Given the description of an element on the screen output the (x, y) to click on. 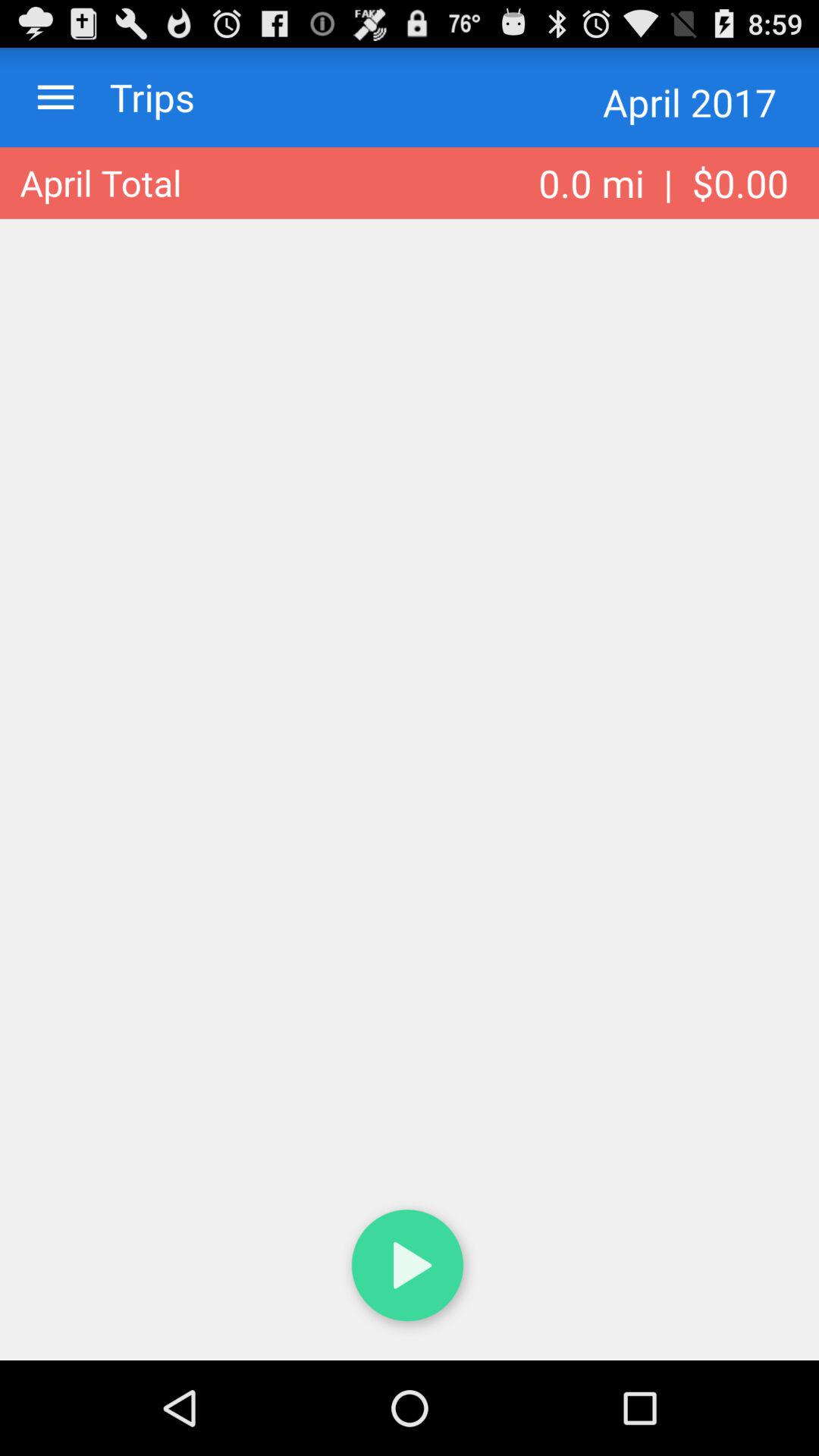
turn on the item above the april total item (55, 97)
